Given the description of an element on the screen output the (x, y) to click on. 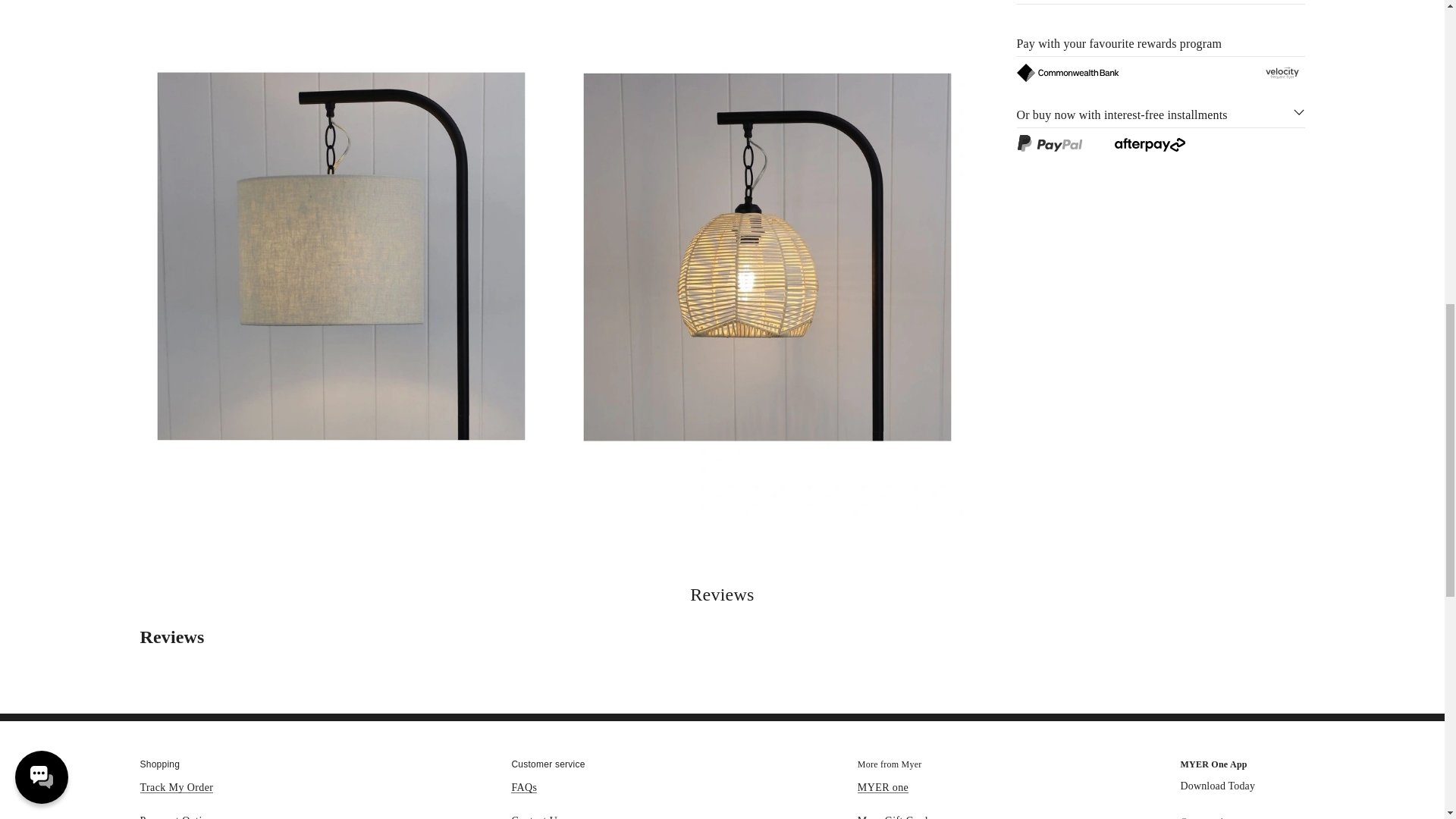
PayPal Pay in 4 (1048, 143)
